Given the description of an element on the screen output the (x, y) to click on. 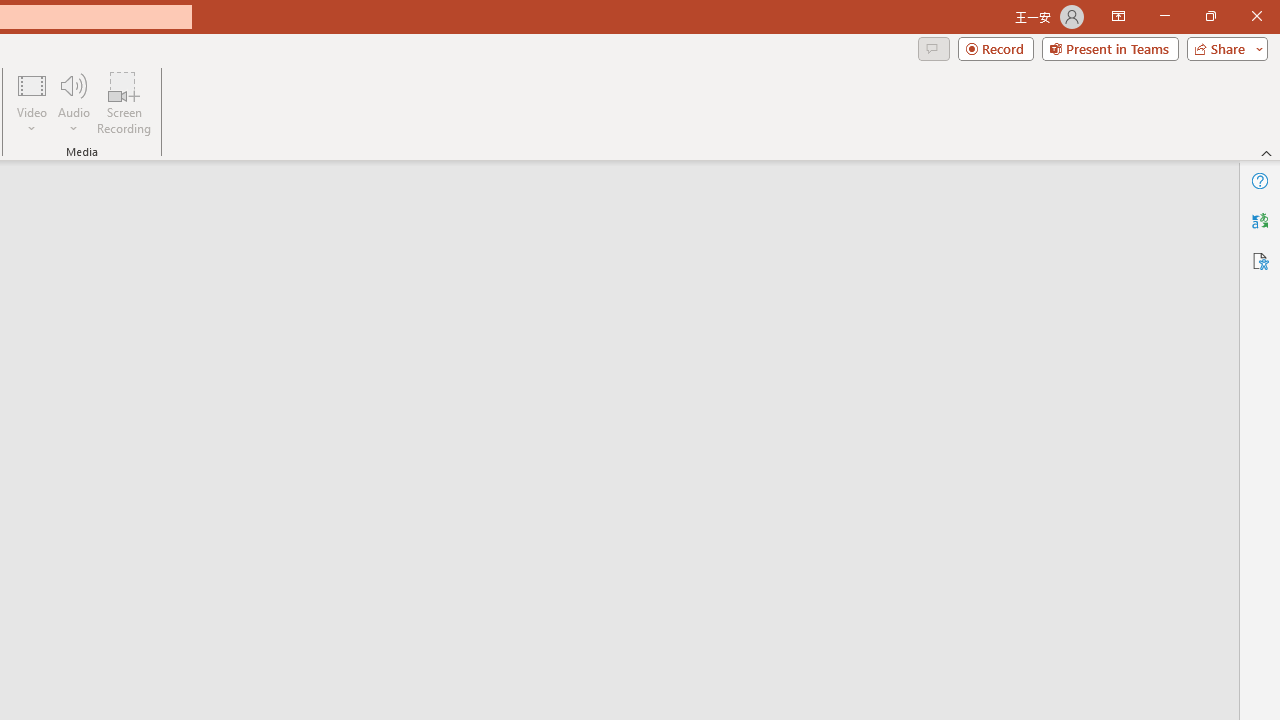
Accessibility (1260, 260)
Screen Recording... (123, 102)
Collapse the Ribbon (1267, 152)
Audio (73, 102)
Translator (1260, 220)
Restore Down (1210, 16)
